Given the description of an element on the screen output the (x, y) to click on. 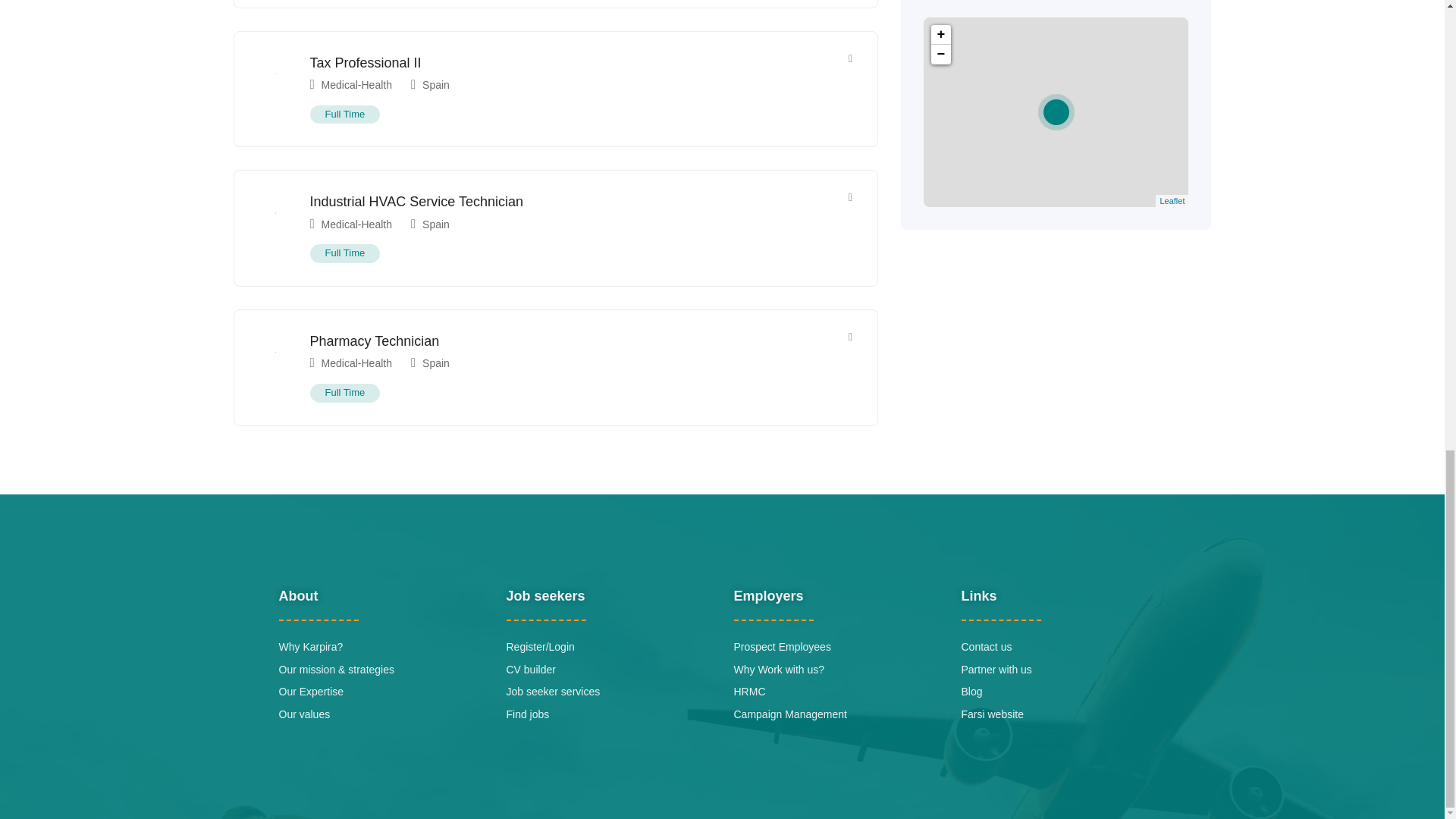
A JS library for interactive maps (1171, 200)
Zoom out (940, 54)
Zoom in (940, 35)
